Given the description of an element on the screen output the (x, y) to click on. 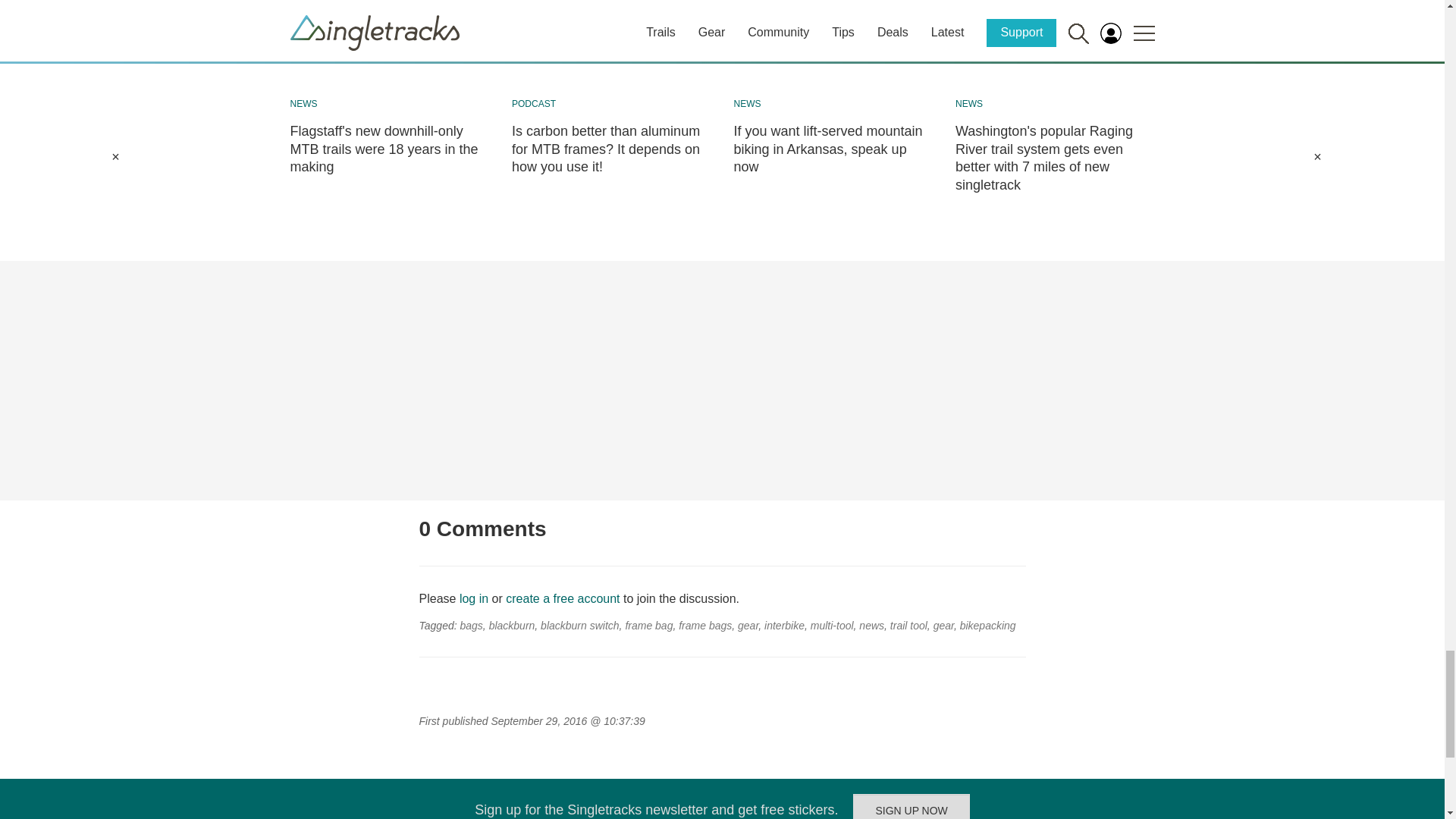
SIGN UP NOW (911, 806)
